Given the description of an element on the screen output the (x, y) to click on. 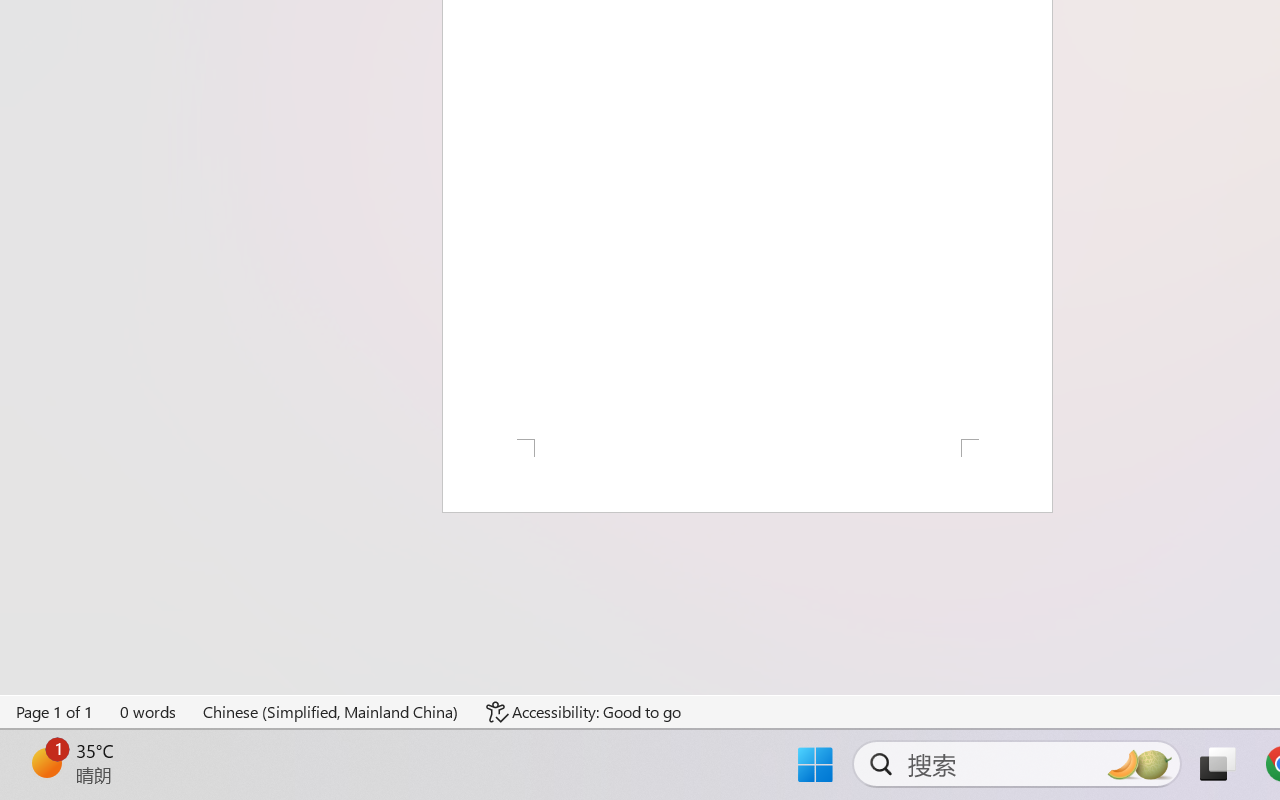
Language Chinese (Simplified, Mainland China) (331, 712)
